Given the description of an element on the screen output the (x, y) to click on. 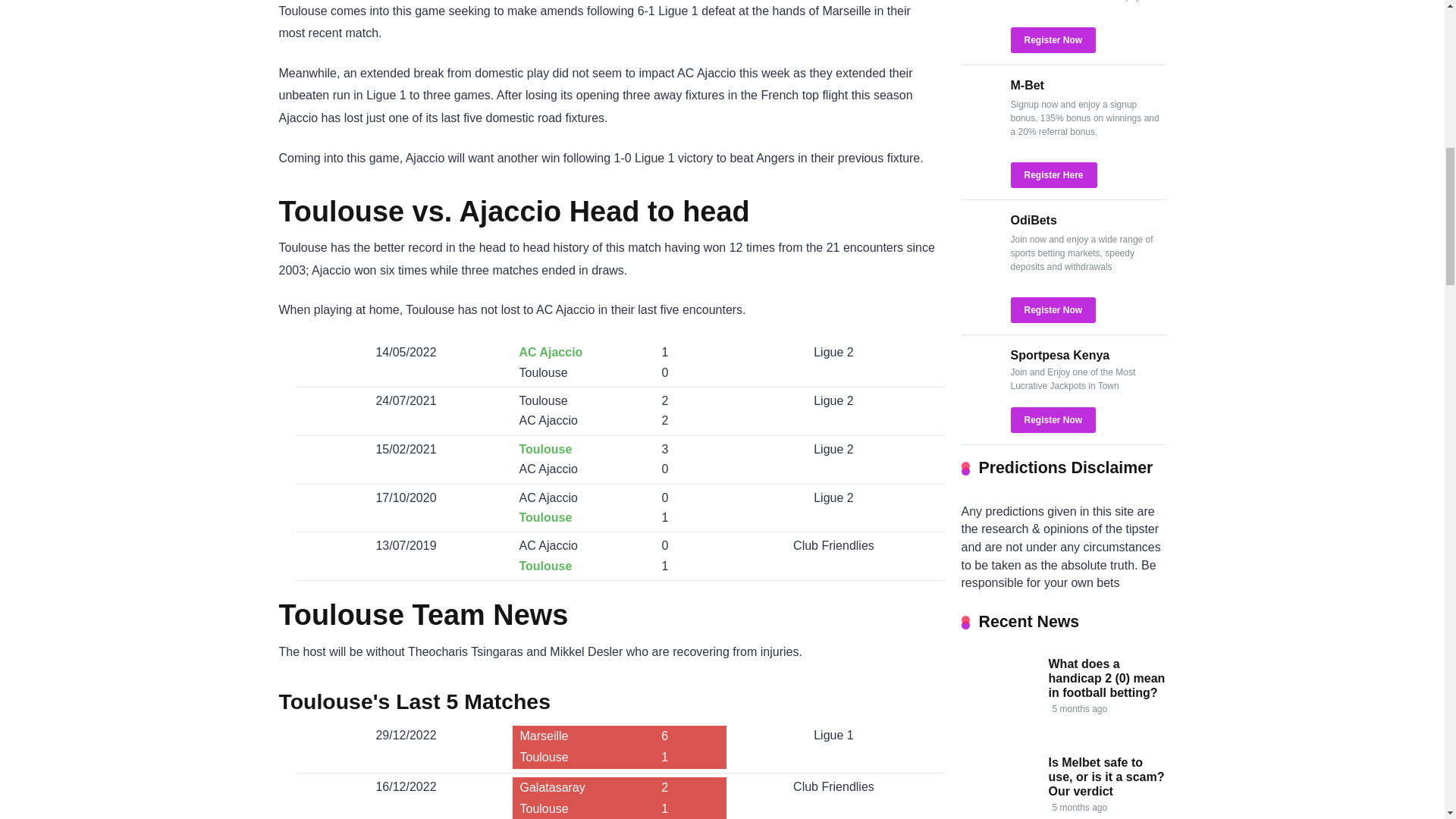
Register Now (1053, 40)
